Given the description of an element on the screen output the (x, y) to click on. 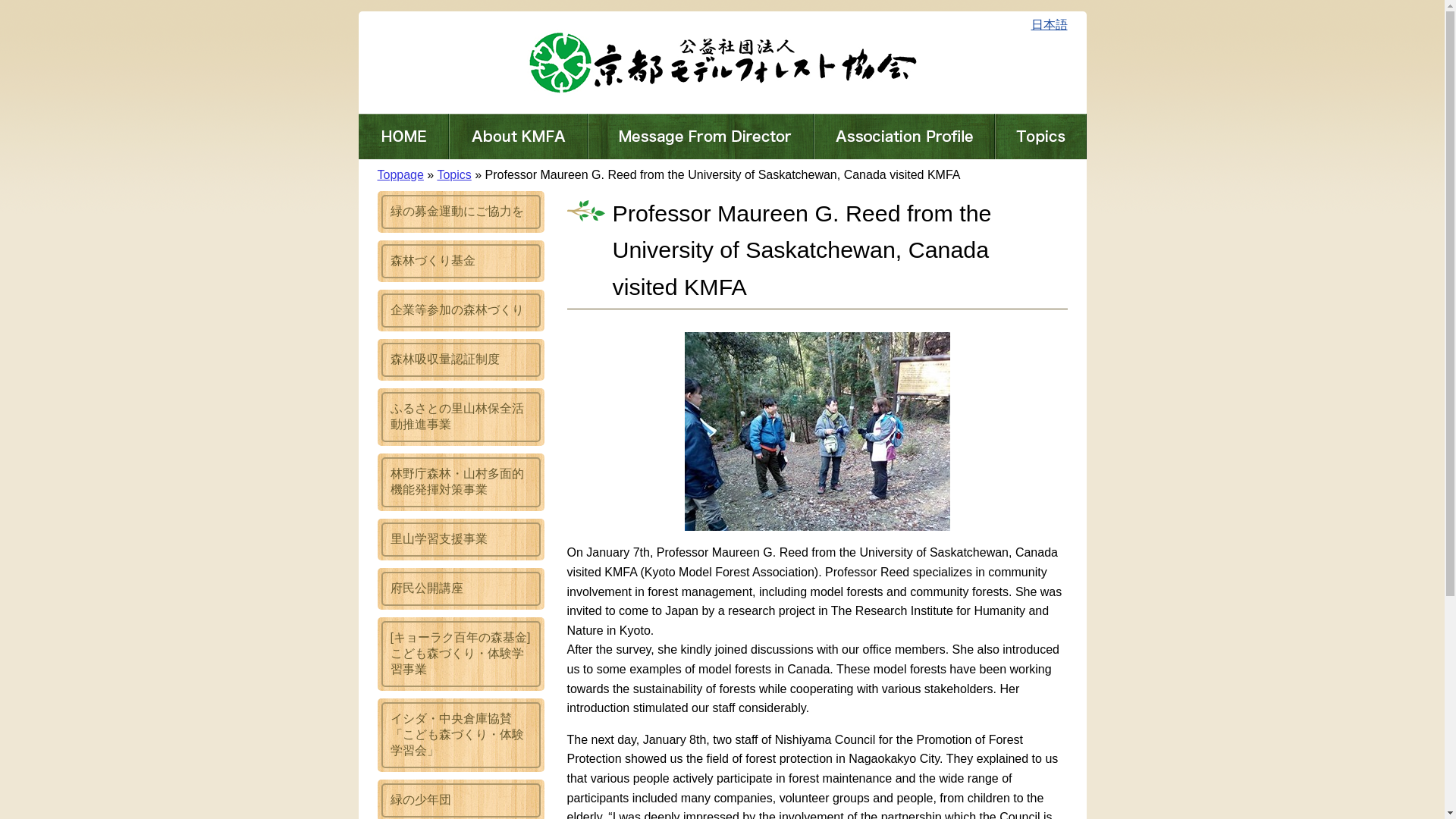
Topics (453, 174)
Toppage (400, 174)
